Given the description of an element on the screen output the (x, y) to click on. 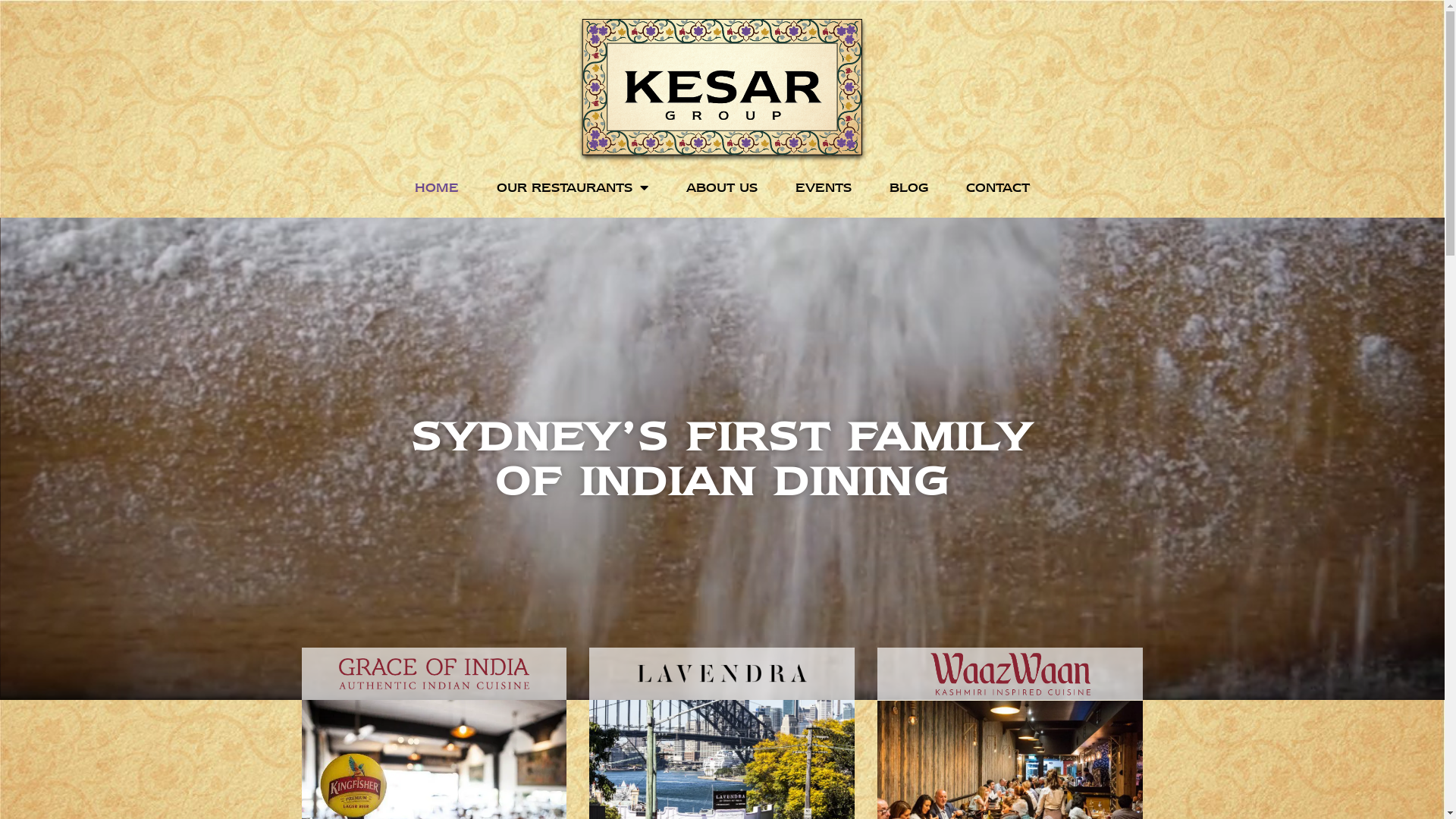
ABOUT US Element type: text (721, 186)
CONTACT Element type: text (997, 186)
EVENTS Element type: text (823, 186)
BLOG Element type: text (908, 186)
HOME Element type: text (436, 186)
OUR RESTAURANTS Element type: text (572, 186)
